Given the description of an element on the screen output the (x, y) to click on. 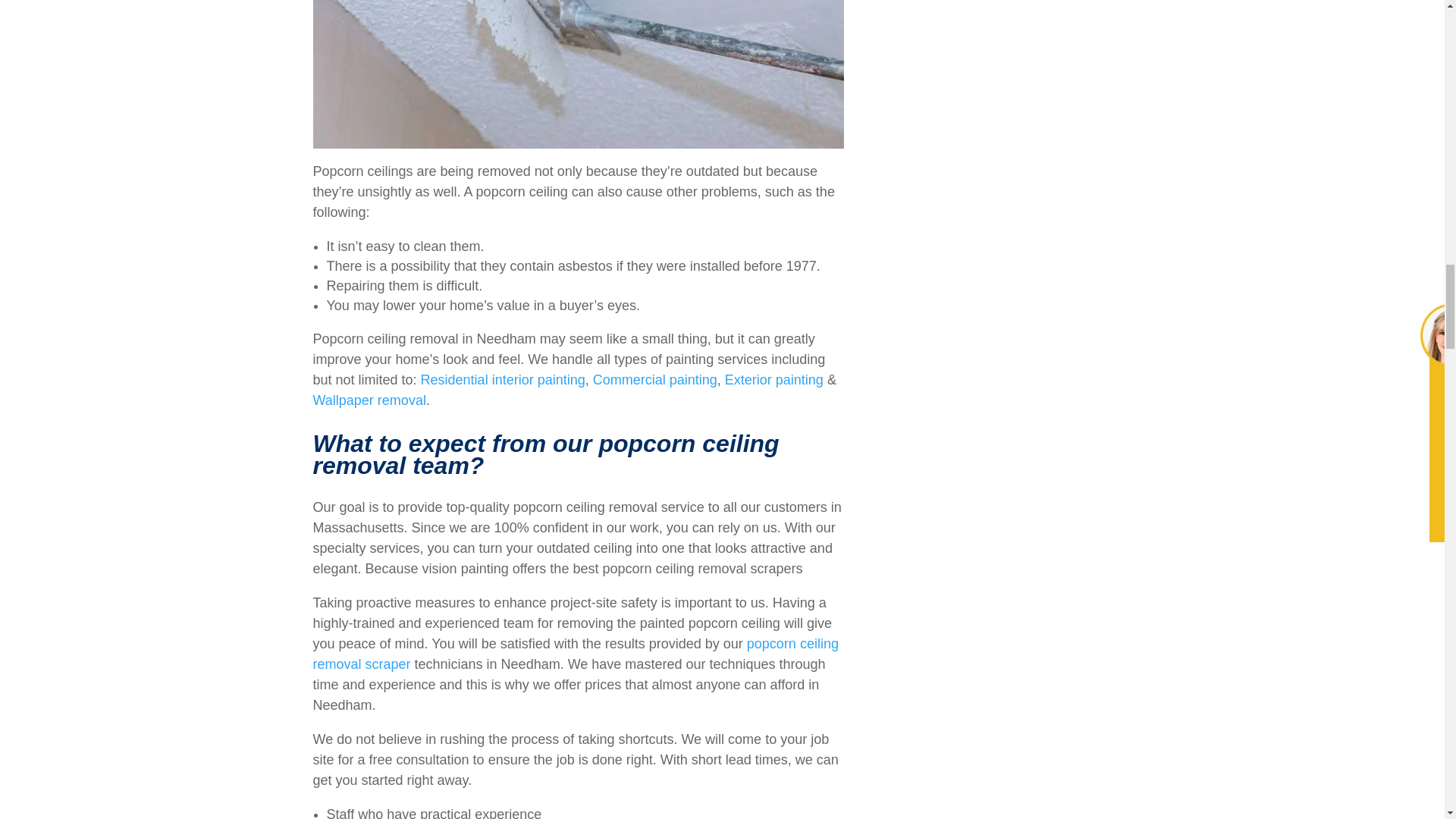
Wallpaper removal (369, 400)
popcorn ceiling removal scraper (575, 653)
Exterior painting (774, 379)
Commercial painting (654, 379)
popcorn repairring (578, 74)
Residential interior painting (502, 379)
